Given the description of an element on the screen output the (x, y) to click on. 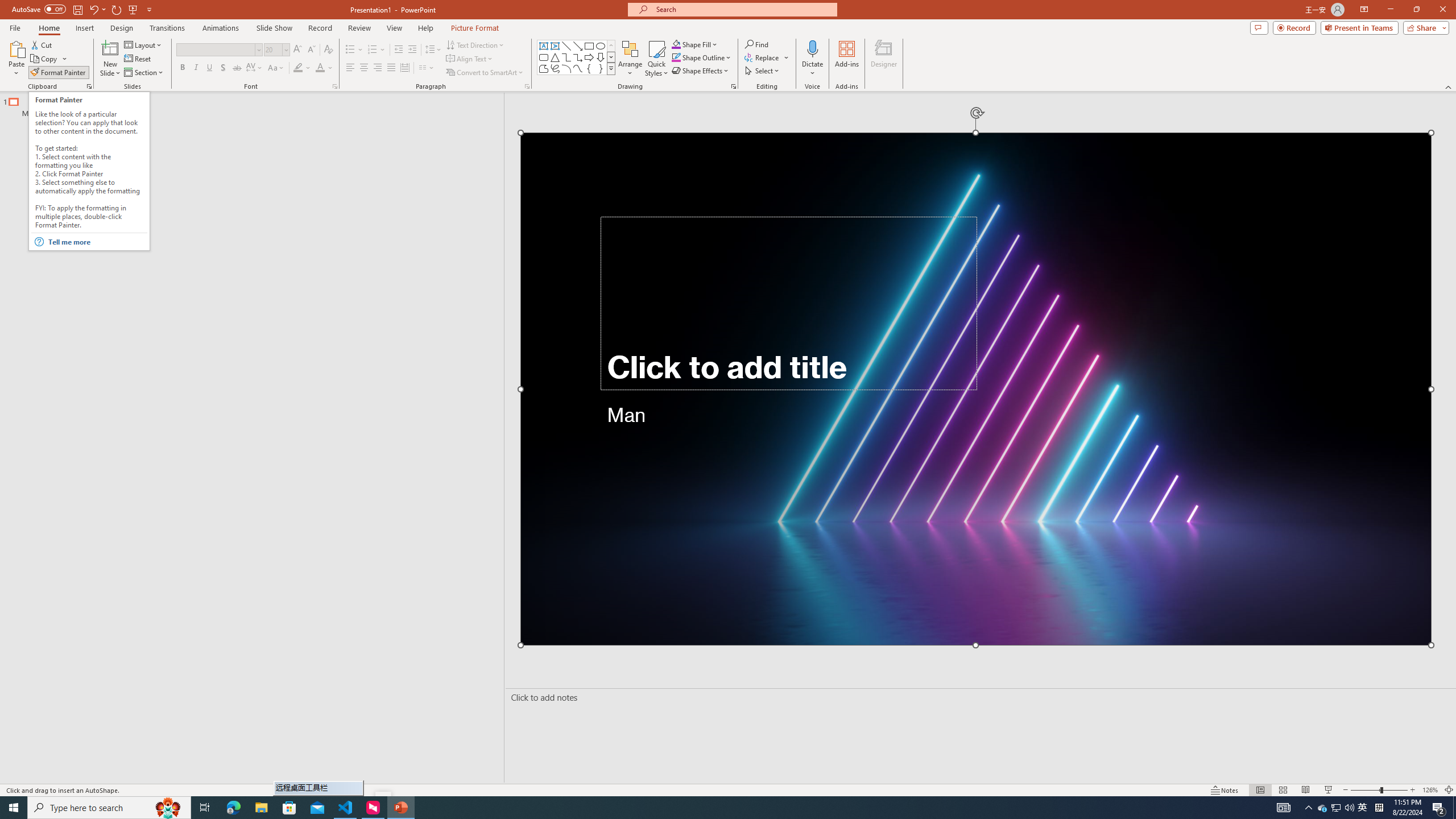
Office Clipboard... (88, 85)
Rectangle: Rounded Corners (543, 57)
Increase Indent (412, 49)
Arc (566, 68)
Shape Outline Blue, Accent 1 (675, 56)
Italic (195, 67)
